Given the description of an element on the screen output the (x, y) to click on. 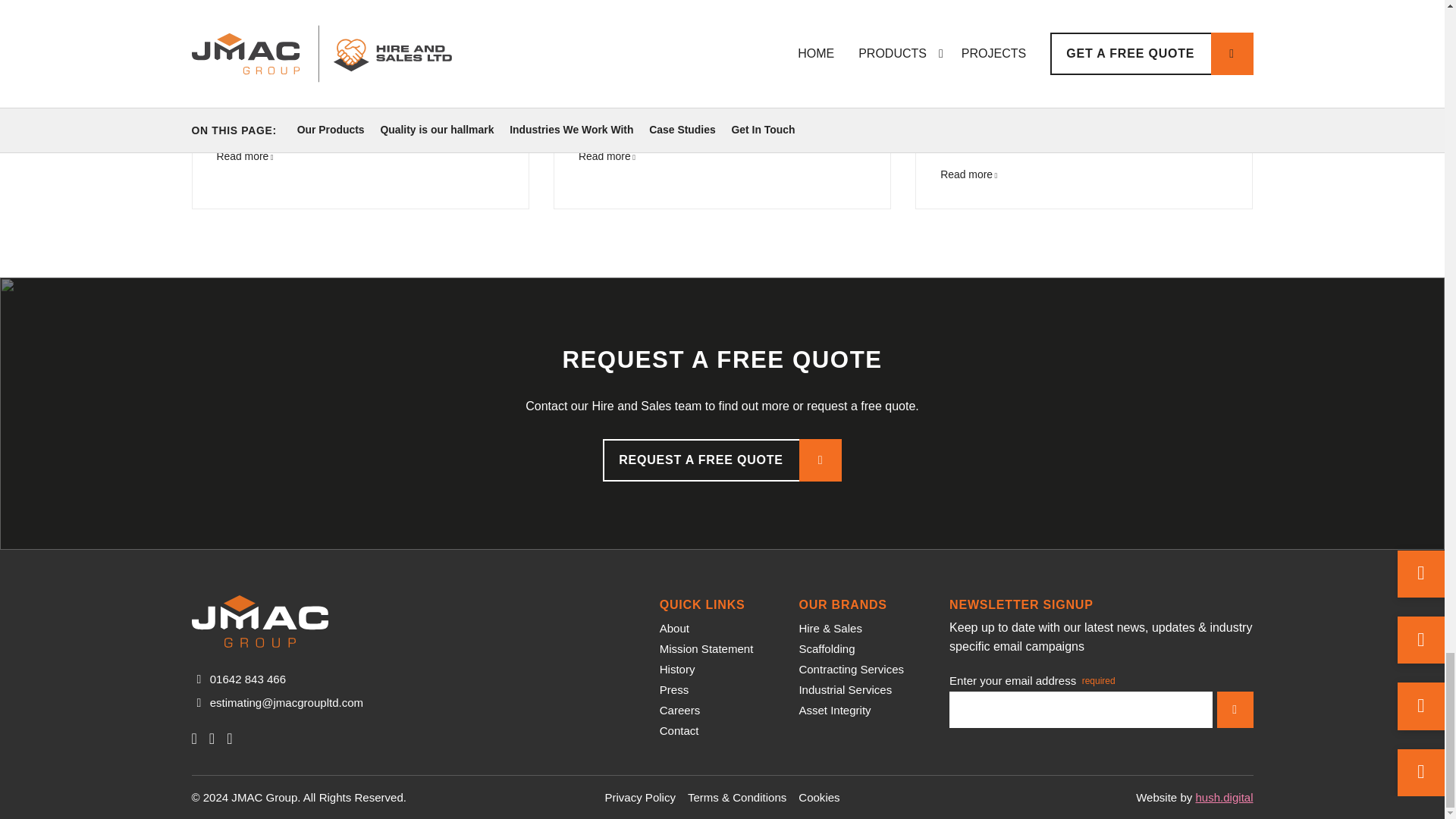
Read more (968, 174)
About (673, 627)
Read more (606, 155)
PERSIMMON HOMES (660, 47)
01642 843 466 (247, 678)
REQUEST A FREE QUOTE (721, 459)
Story Homes (244, 155)
STORY HOMES (276, 47)
Persimmon Homes (606, 155)
Read more (244, 155)
